Given the description of an element on the screen output the (x, y) to click on. 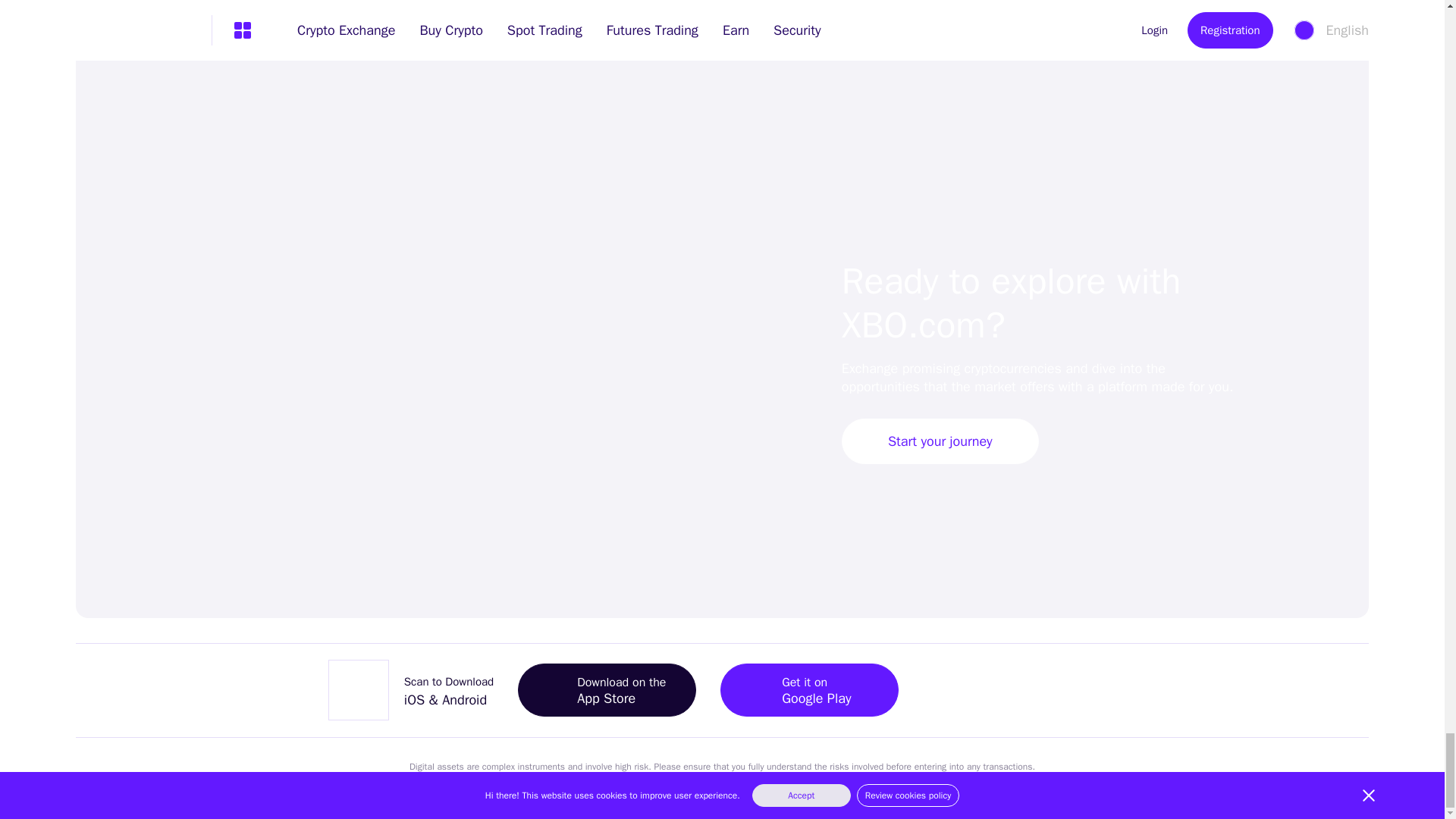
Customer reviews powered by Trustpilot (1274, 715)
